Given the description of an element on the screen output the (x, y) to click on. 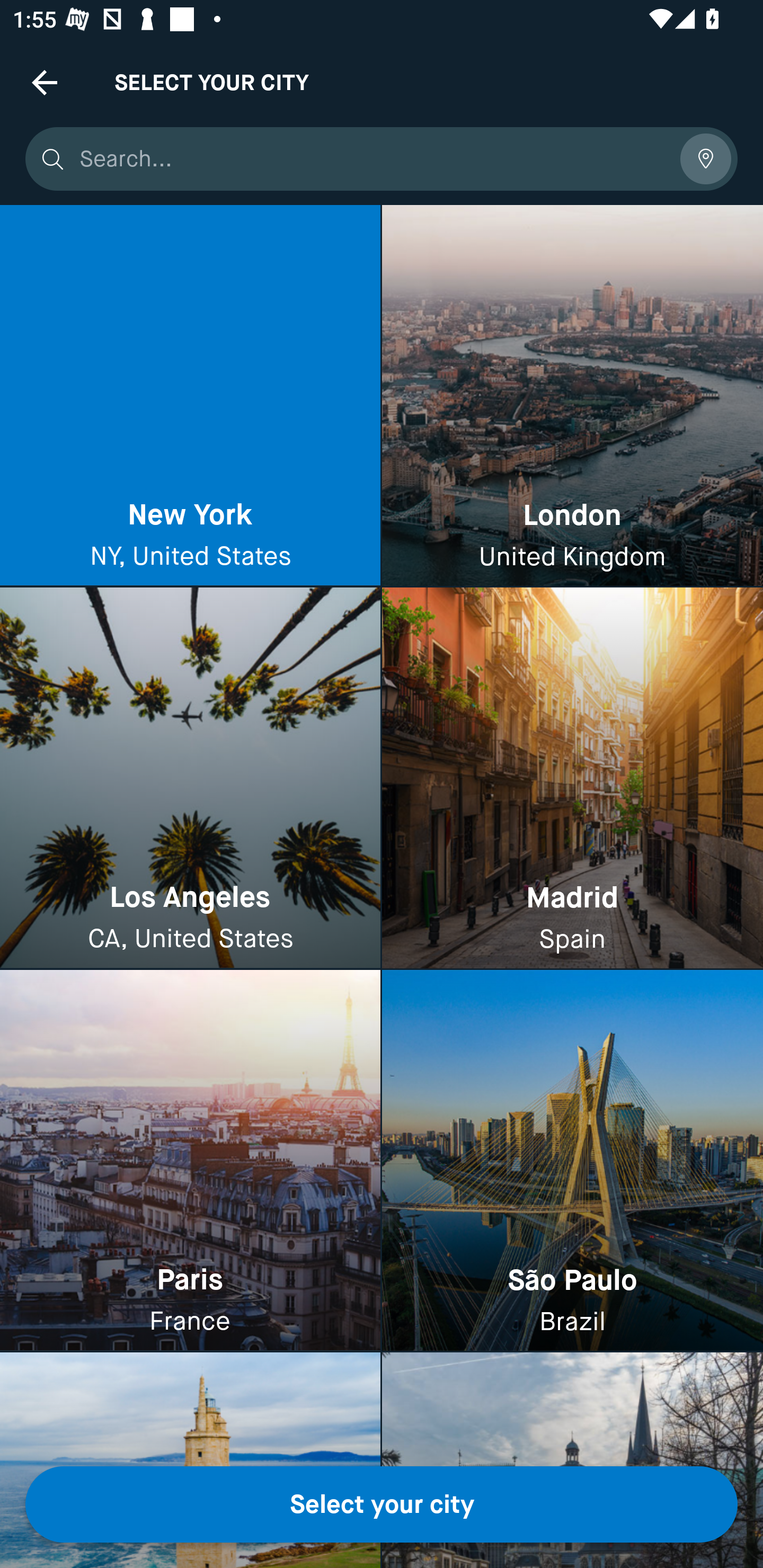
Navigate up (44, 82)
Search... (373, 159)
New York NY, United States (190, 395)
London United Kingdom (572, 395)
Los Angeles CA, United States (190, 778)
Madrid Spain (572, 778)
Paris France (190, 1160)
São Paulo Brazil (572, 1160)
Select your city (381, 1504)
